Given the description of an element on the screen output the (x, y) to click on. 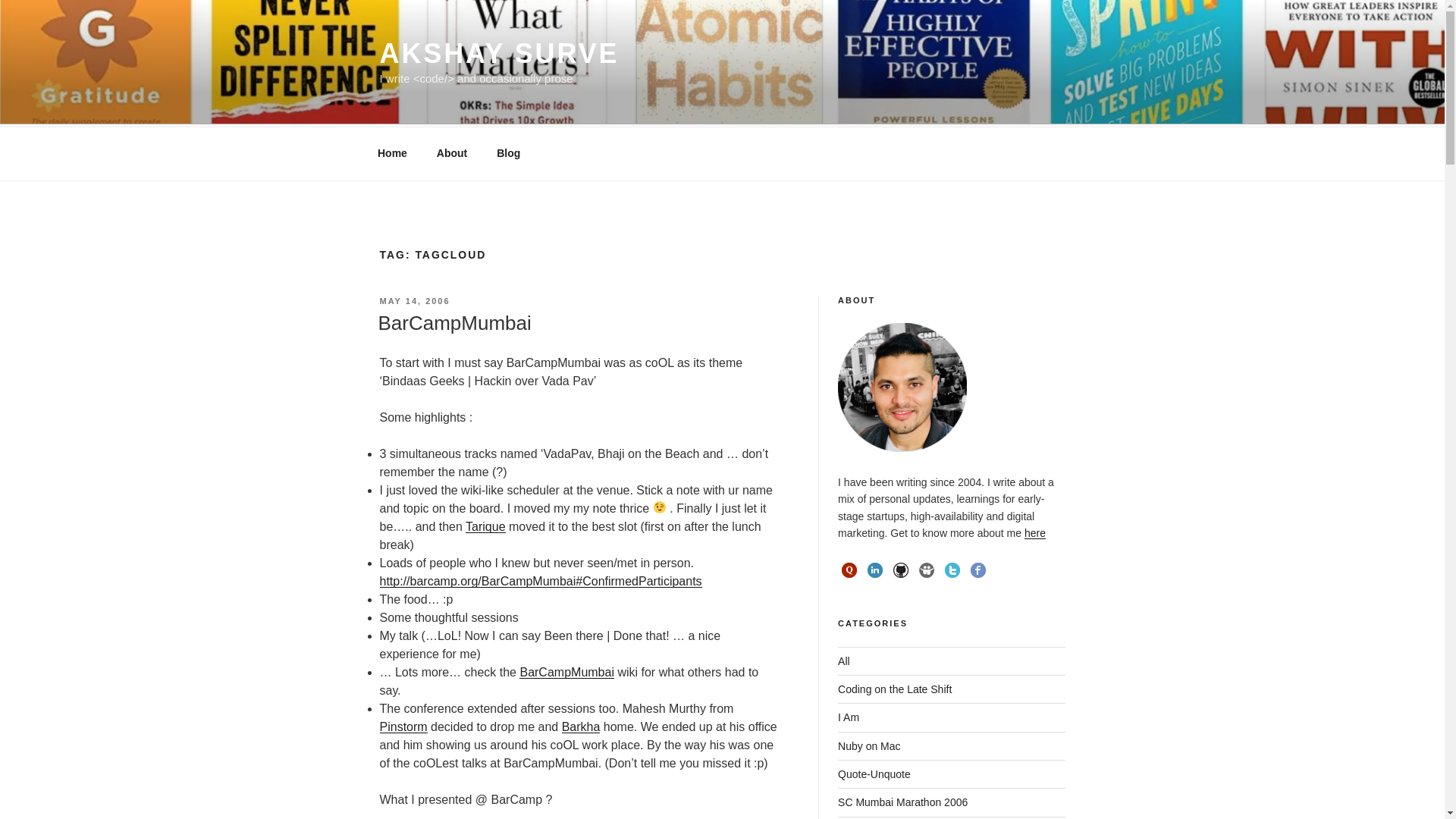
Nuby on Mac (868, 746)
Tarique (485, 526)
Pinstorm (402, 726)
Home (392, 153)
MAY 14, 2006 (413, 300)
All (844, 661)
BarCampMumbai (454, 323)
I Am (848, 717)
Blog (508, 153)
AKSHAY SURVE (498, 52)
